Given the description of an element on the screen output the (x, y) to click on. 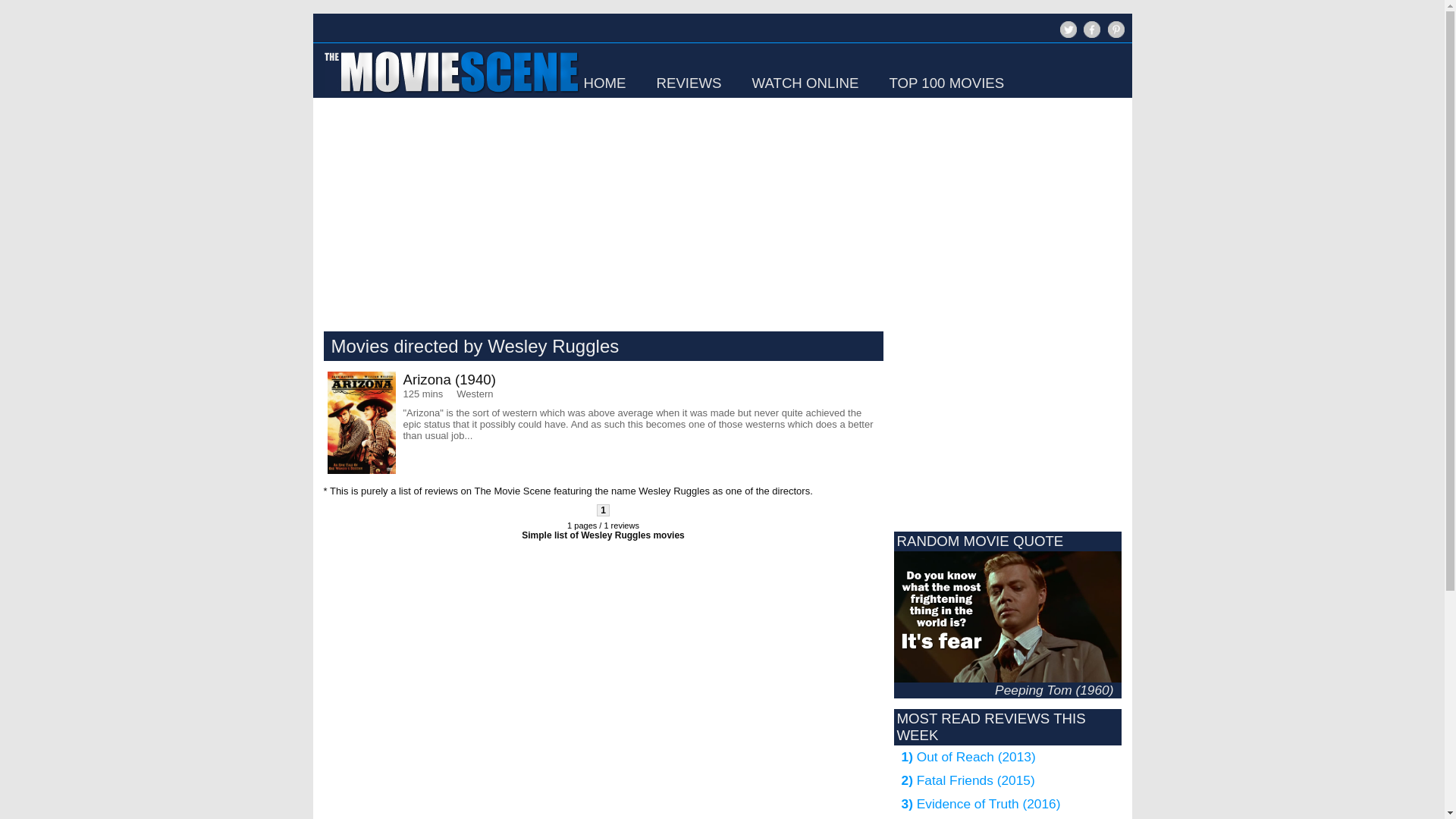
HOME (604, 83)
REVIEWS (688, 83)
The Movie Scene - homepage (449, 94)
Follow The Movie Scene on Twitter (1068, 29)
Follow The Movie Scene on Twitter (1067, 37)
TOP 100 MOVIES (946, 83)
Click here for review of Arizona (603, 422)
WATCH ONLINE (805, 83)
Follow The Movie Scene on Pinterest (1115, 29)
Simple list of Wesley Ruggles movies (602, 534)
Like The Movie Scene on facebook (1091, 29)
1 (603, 510)
1 (603, 510)
Advertisement (462, 664)
